Given the description of an element on the screen output the (x, y) to click on. 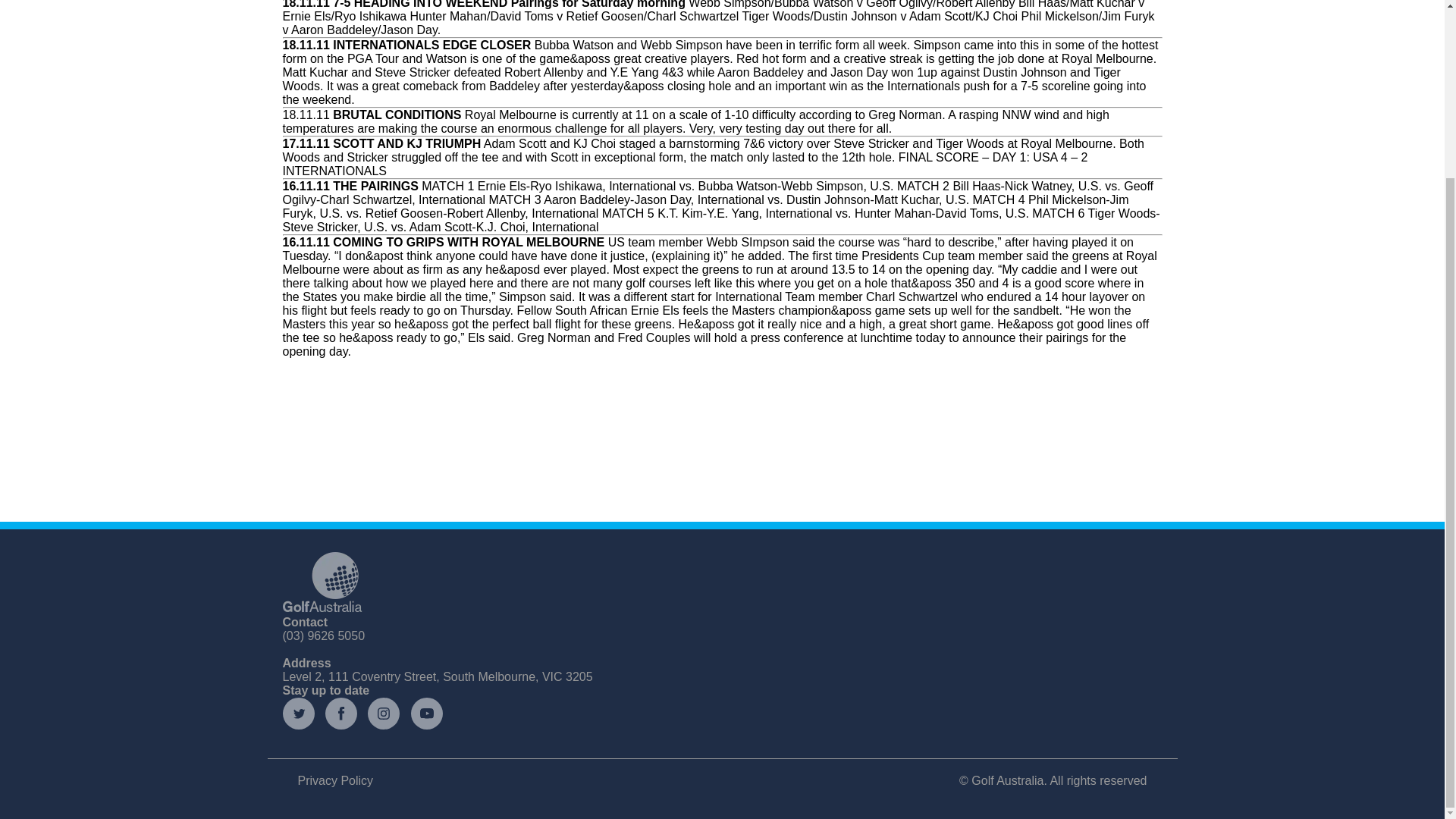
Privacy Policy (334, 780)
